Given the description of an element on the screen output the (x, y) to click on. 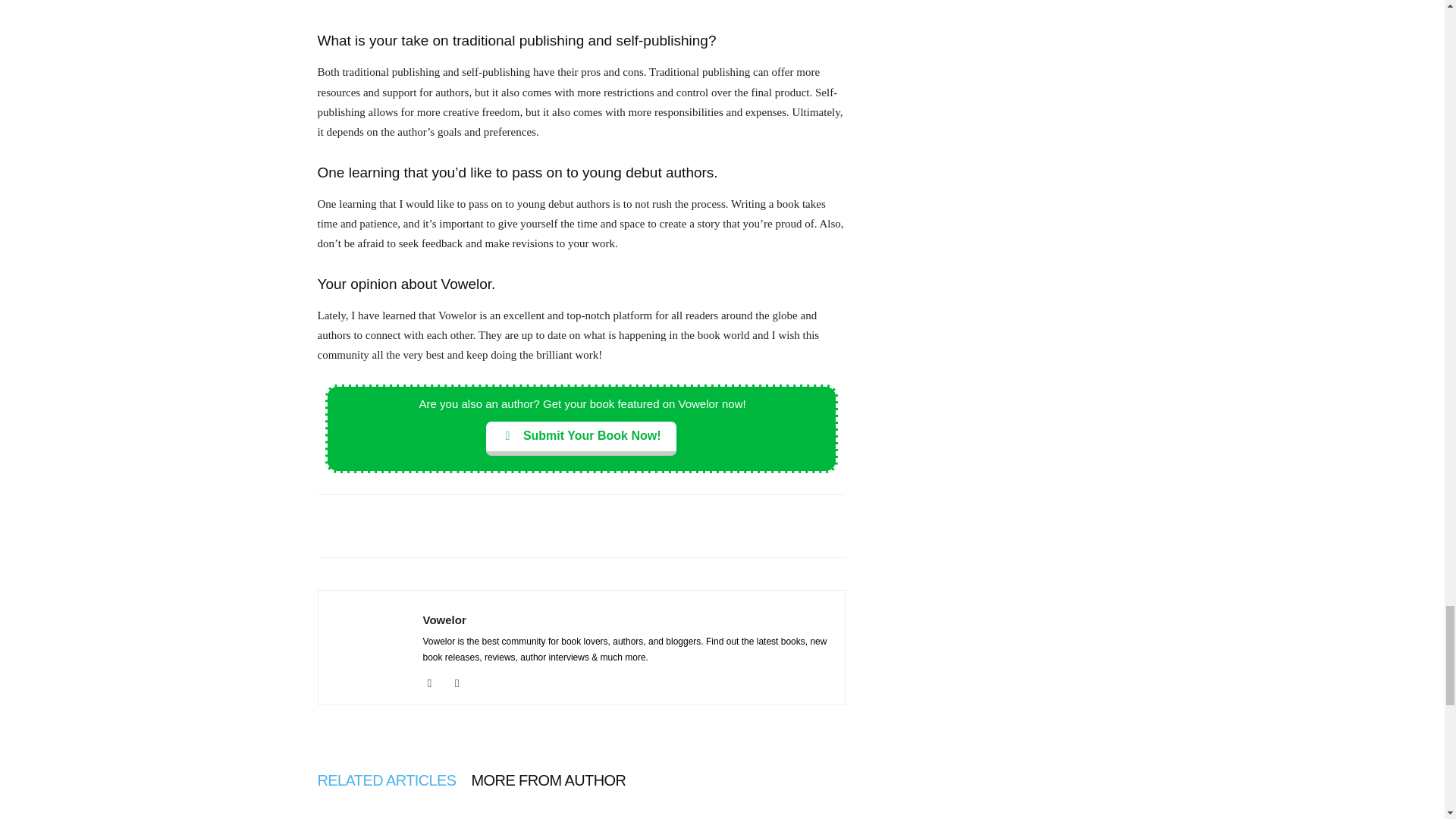
Vowelor (444, 619)
RELATED ARTICLES (386, 780)
Instagram (435, 683)
MORE FROM AUTHOR (548, 780)
Submit Your Book Now! (580, 438)
Twitter (462, 683)
